Given the description of an element on the screen output the (x, y) to click on. 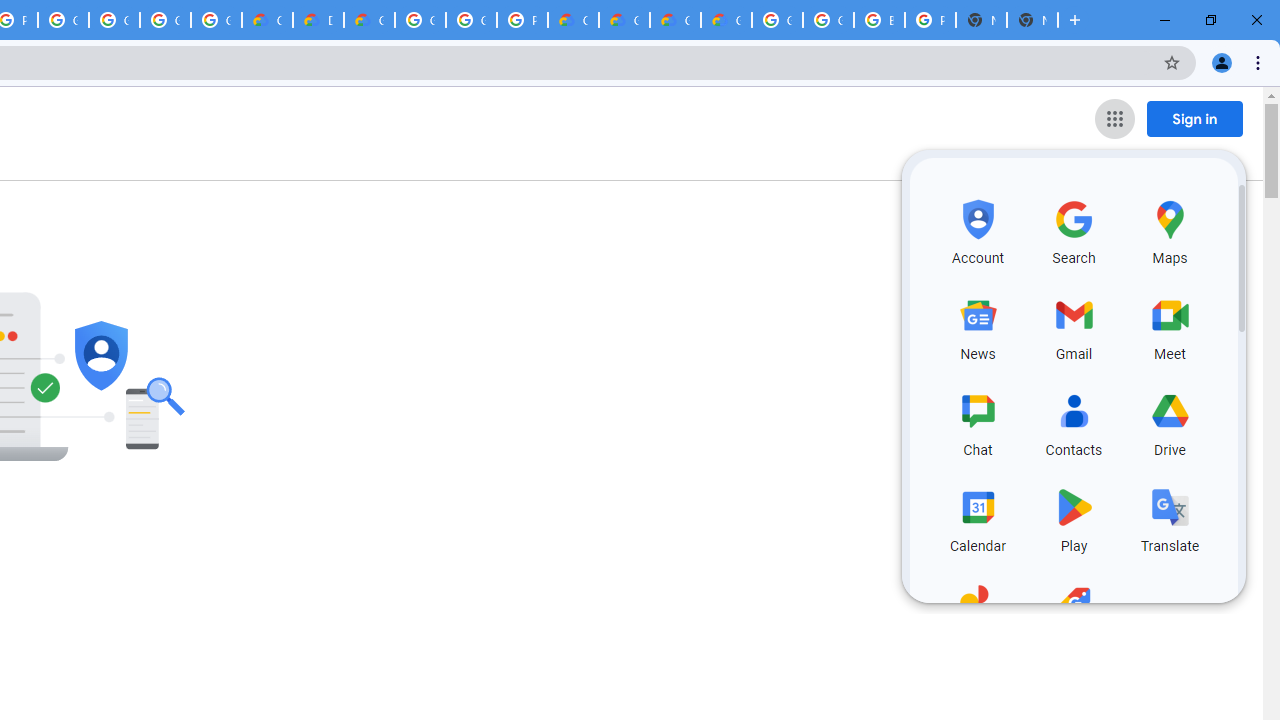
Gemini for Business and Developers | Google Cloud (369, 20)
Sign in (1194, 118)
You (1221, 62)
Google Cloud Pricing Calculator (675, 20)
Google apps (1114, 118)
